Given the description of an element on the screen output the (x, y) to click on. 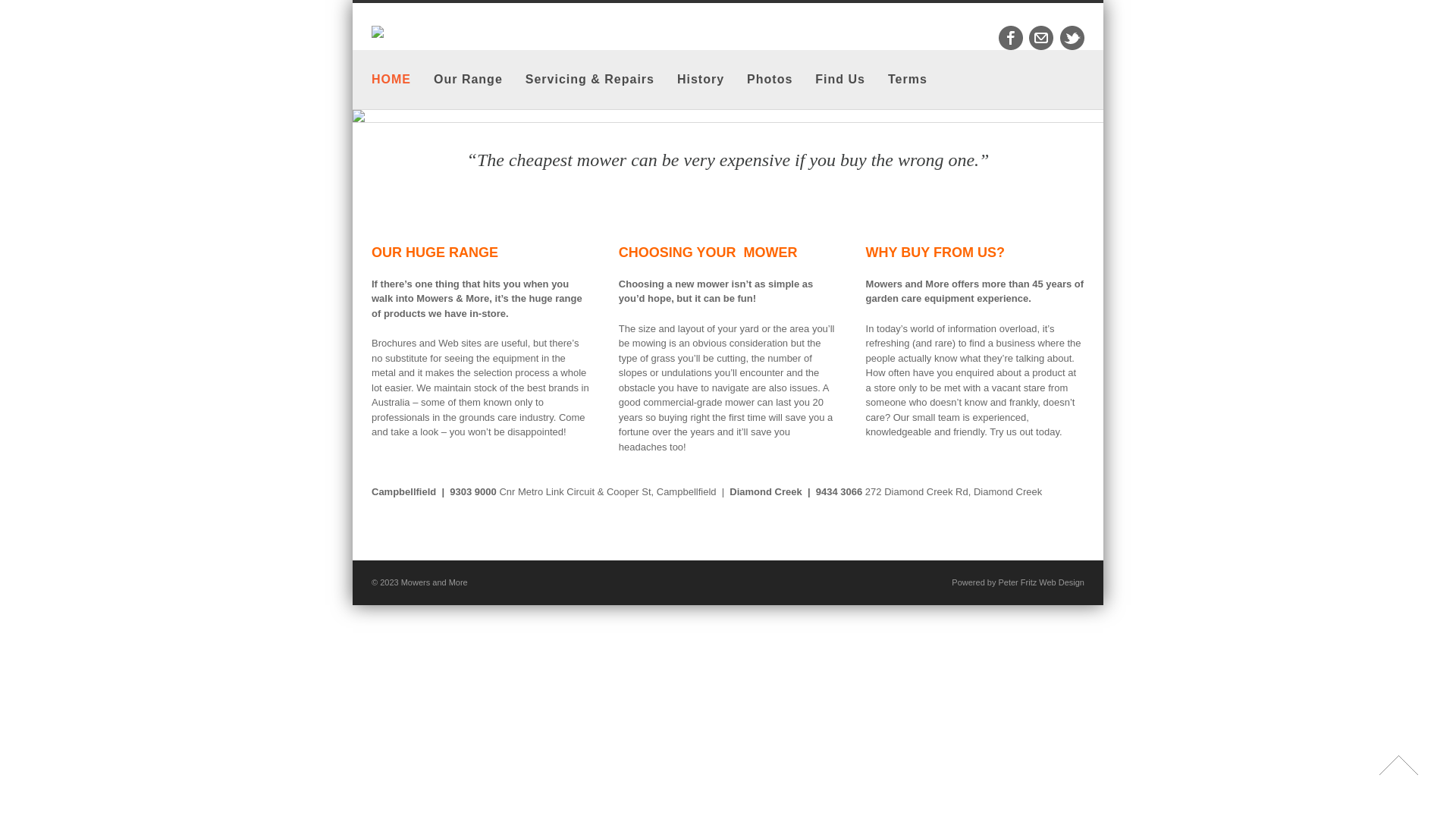
Twitter Element type: hover (1072, 37)
Servicing & Repairs Element type: text (589, 79)
Facebook Element type: hover (1010, 37)
Our Range Element type: text (467, 79)
Terms Element type: text (907, 79)
Mowers and More Element type: text (434, 581)
Peter Fritz Web Design Element type: text (1040, 581)
HOME Element type: text (391, 79)
History Element type: text (700, 79)
Find Us Element type: text (840, 79)
Email Element type: hover (1041, 37)
Mowers and More Element type: hover (377, 34)
Photos Element type: text (769, 79)
